Given the description of an element on the screen output the (x, y) to click on. 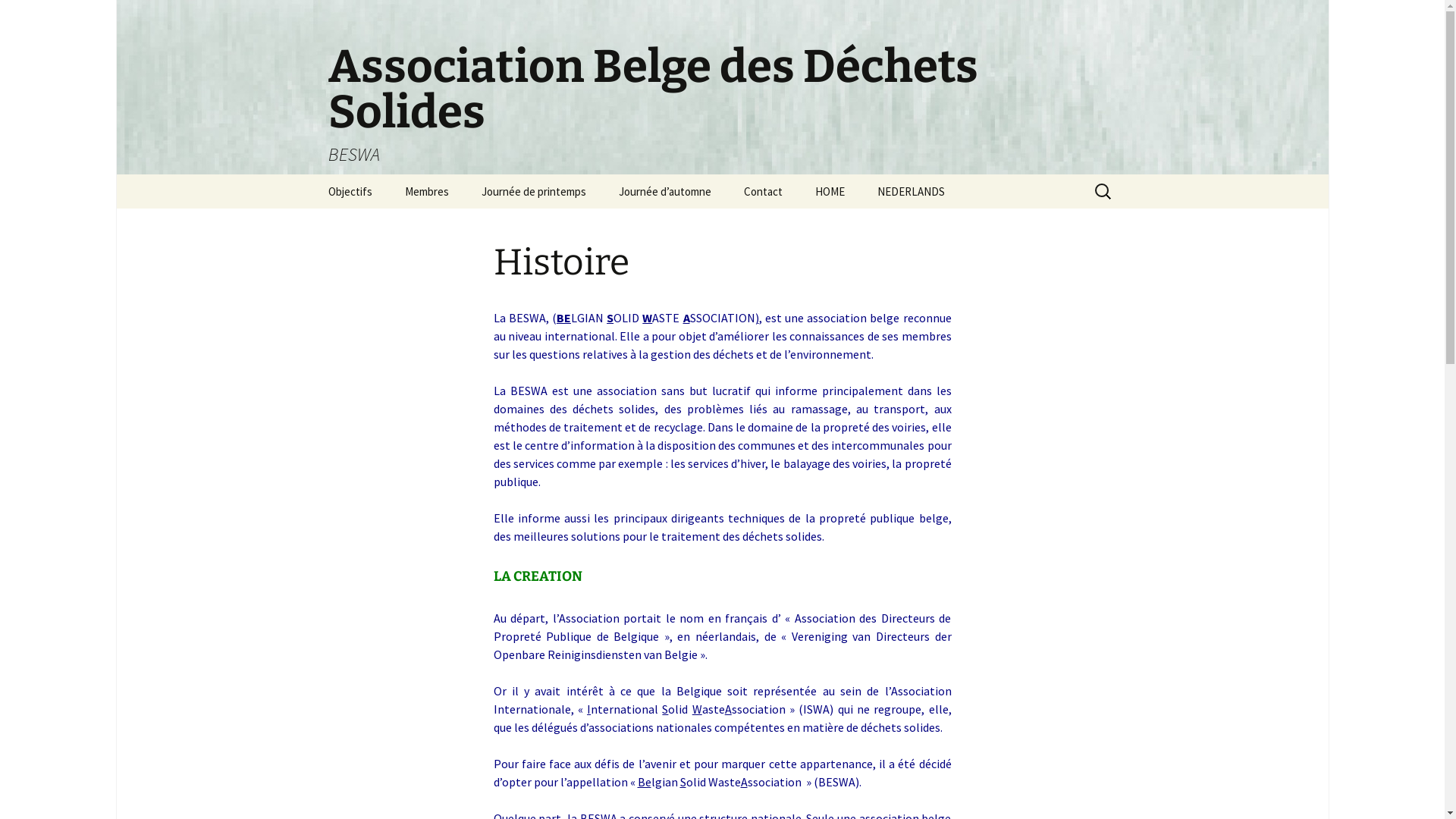
NEDERLANDS Element type: text (910, 191)
Rechercher Element type: text (18, 16)
HOME Element type: text (829, 191)
Aller au contenu Element type: text (312, 173)
Membres Element type: text (426, 191)
Contact Element type: text (762, 191)
Objectifs Element type: text (349, 191)
Rechercher Element type: text (44, 15)
